Given the description of an element on the screen output the (x, y) to click on. 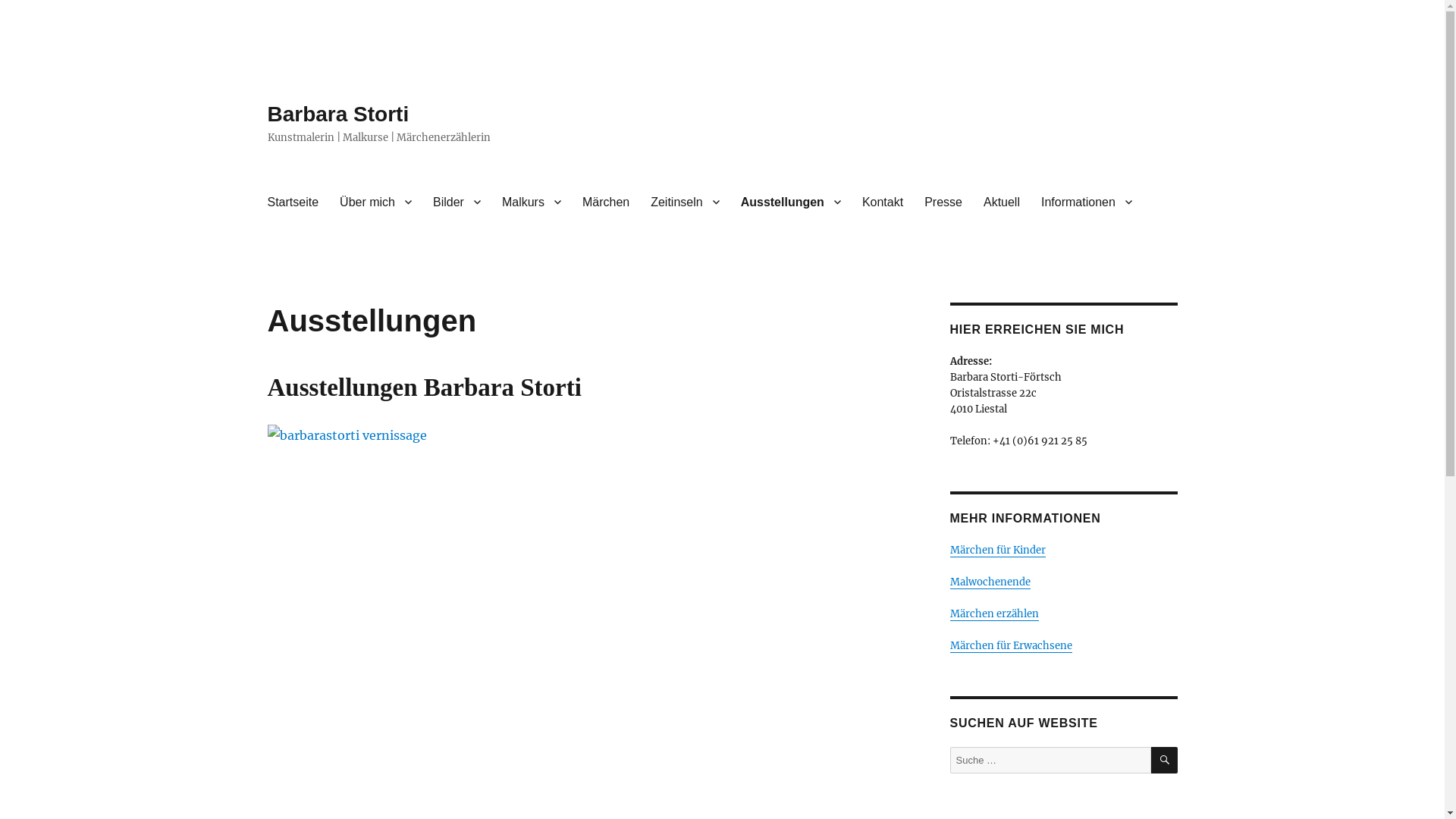
Bilder Element type: text (456, 201)
Aktuell Element type: text (1001, 201)
Startseite Element type: text (292, 201)
Presse Element type: text (942, 201)
Malkurs Element type: text (531, 201)
SUCHE Element type: text (1164, 759)
Zeitinseln Element type: text (684, 201)
Malwochenende Element type: text (989, 581)
Informationen Element type: text (1086, 201)
Kontakt Element type: text (882, 201)
Barbara Storti Element type: text (337, 113)
Ausstellungen Element type: text (790, 201)
